Given the description of an element on the screen output the (x, y) to click on. 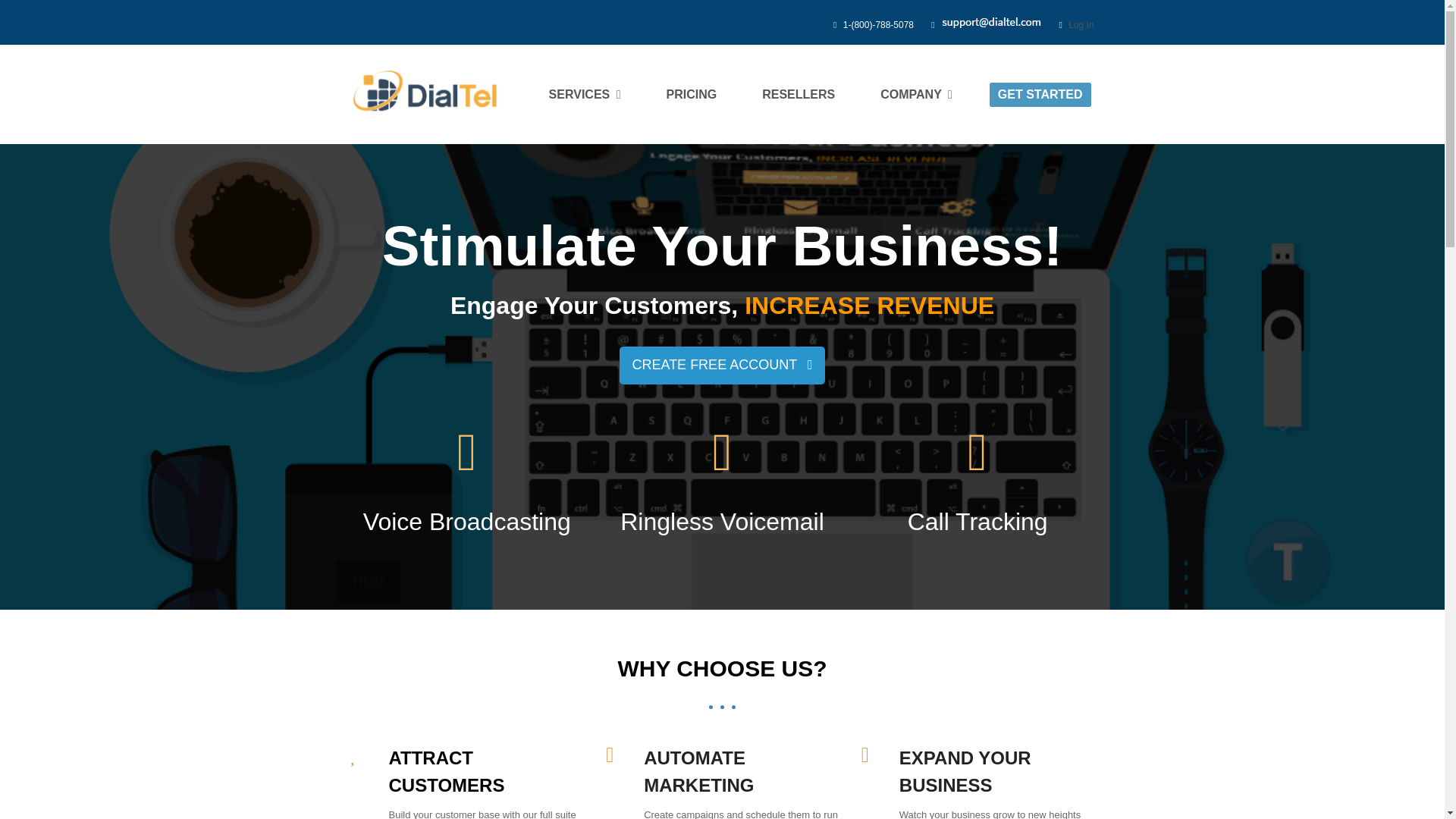
Boost Your Website Today (722, 365)
CREATE FREE ACCOUNT (722, 365)
PRICING (692, 94)
Call Tracking (977, 526)
SERVICES (584, 94)
Ringless Voicemail (722, 526)
COMPANY (916, 94)
CREATE FREE ACCOUNT (722, 365)
RESELLERS (798, 94)
Voice Broadcasting (466, 526)
GET STARTED (1040, 94)
Log In (1080, 24)
Login (1080, 24)
DialTel Inc. (424, 89)
